Given the description of an element on the screen output the (x, y) to click on. 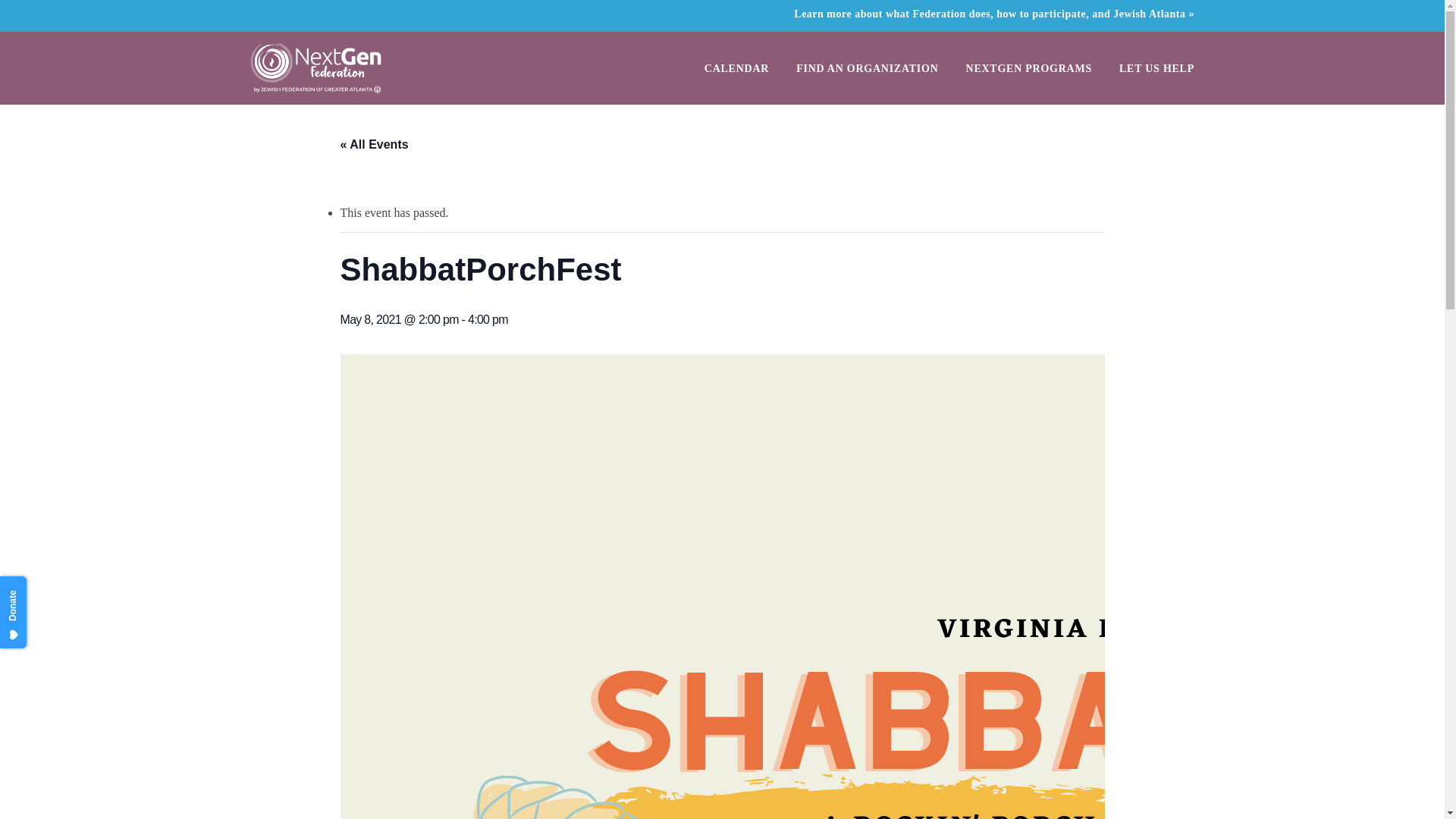
FIND AN ORGANIZATION (866, 68)
LET US HELP (1156, 68)
Persistent Donate Button (39, 588)
CALENDAR (736, 68)
NEXTGEN PROGRAMS (1029, 68)
